Given the description of an element on the screen output the (x, y) to click on. 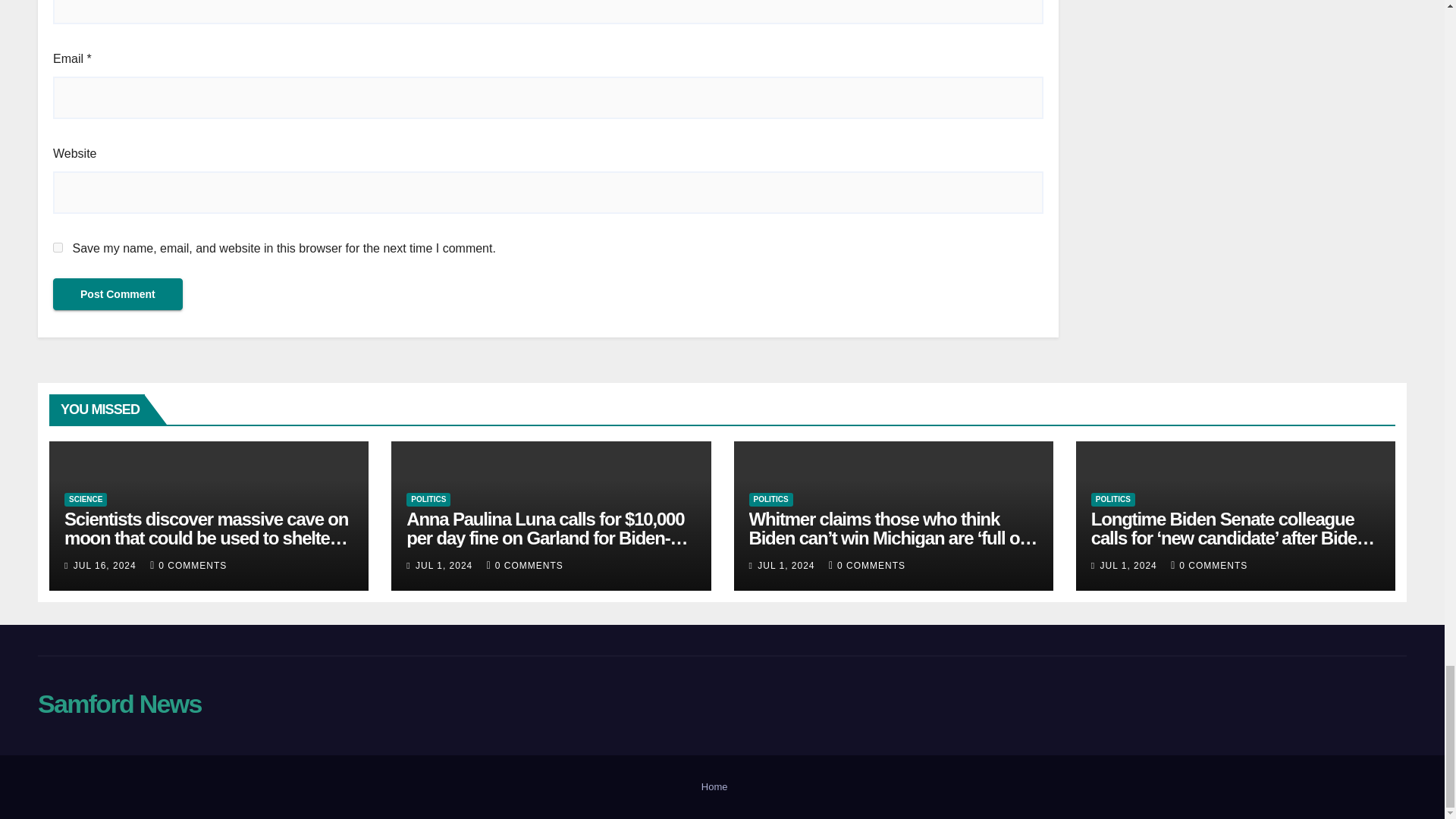
Post Comment (117, 294)
yes (57, 247)
Post Comment (117, 294)
